Given the description of an element on the screen output the (x, y) to click on. 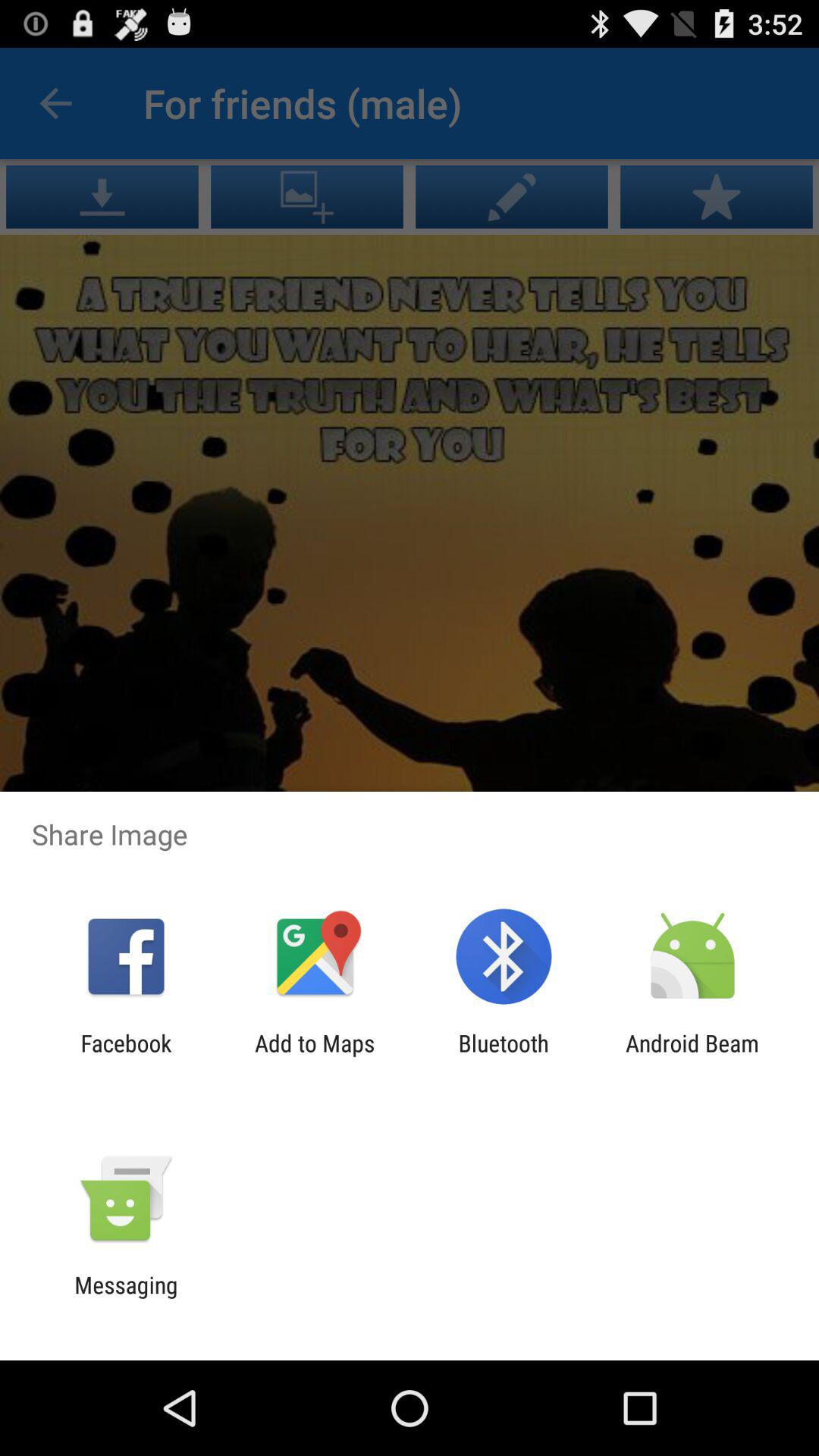
turn on the icon next to android beam item (503, 1056)
